Given the description of an element on the screen output the (x, y) to click on. 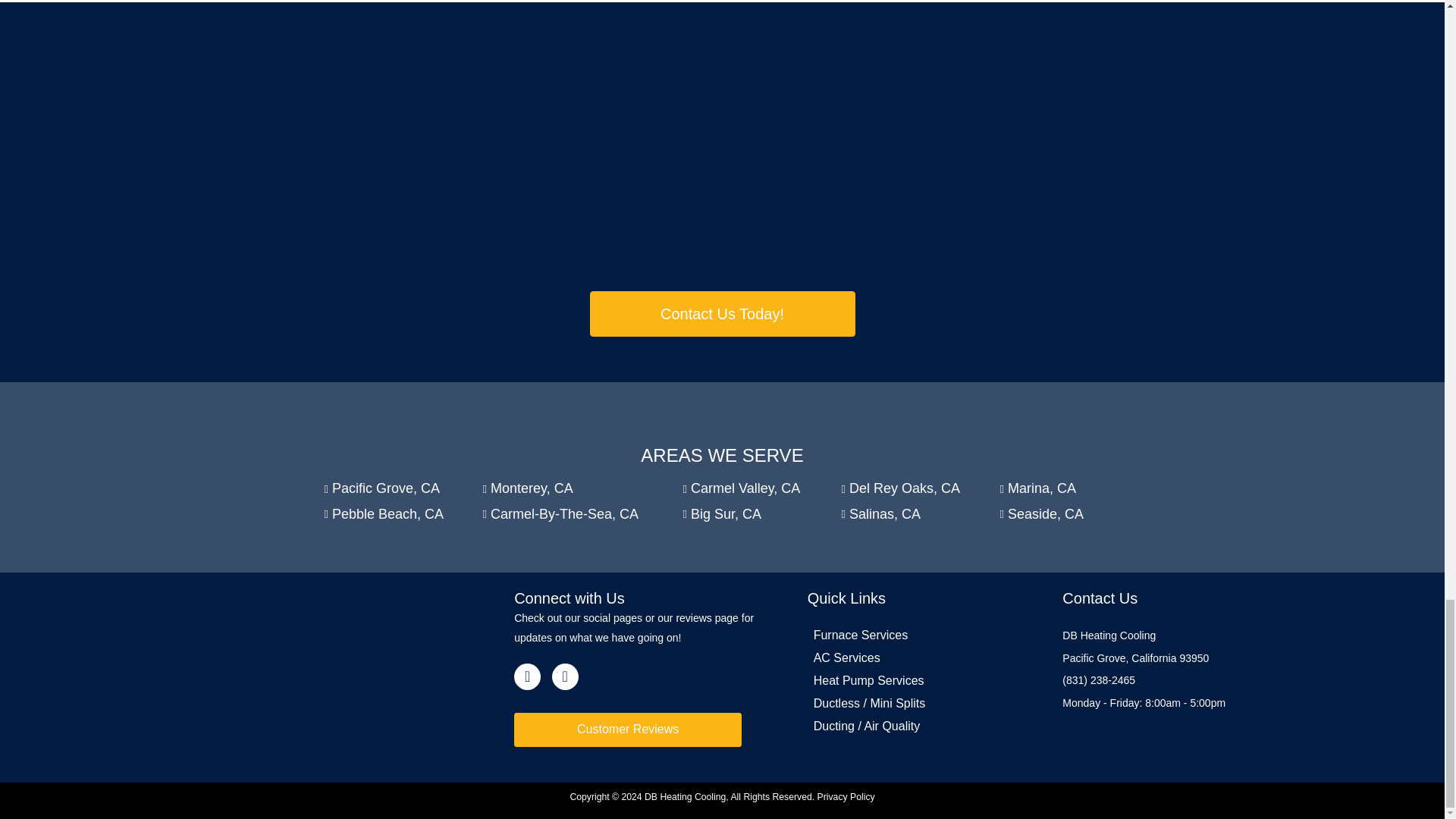
Customer Reviews (627, 729)
Heat Pump Services (920, 680)
Contact Us Today! (722, 313)
AC Services (920, 658)
Furnace Services (920, 635)
